Given the description of an element on the screen output the (x, y) to click on. 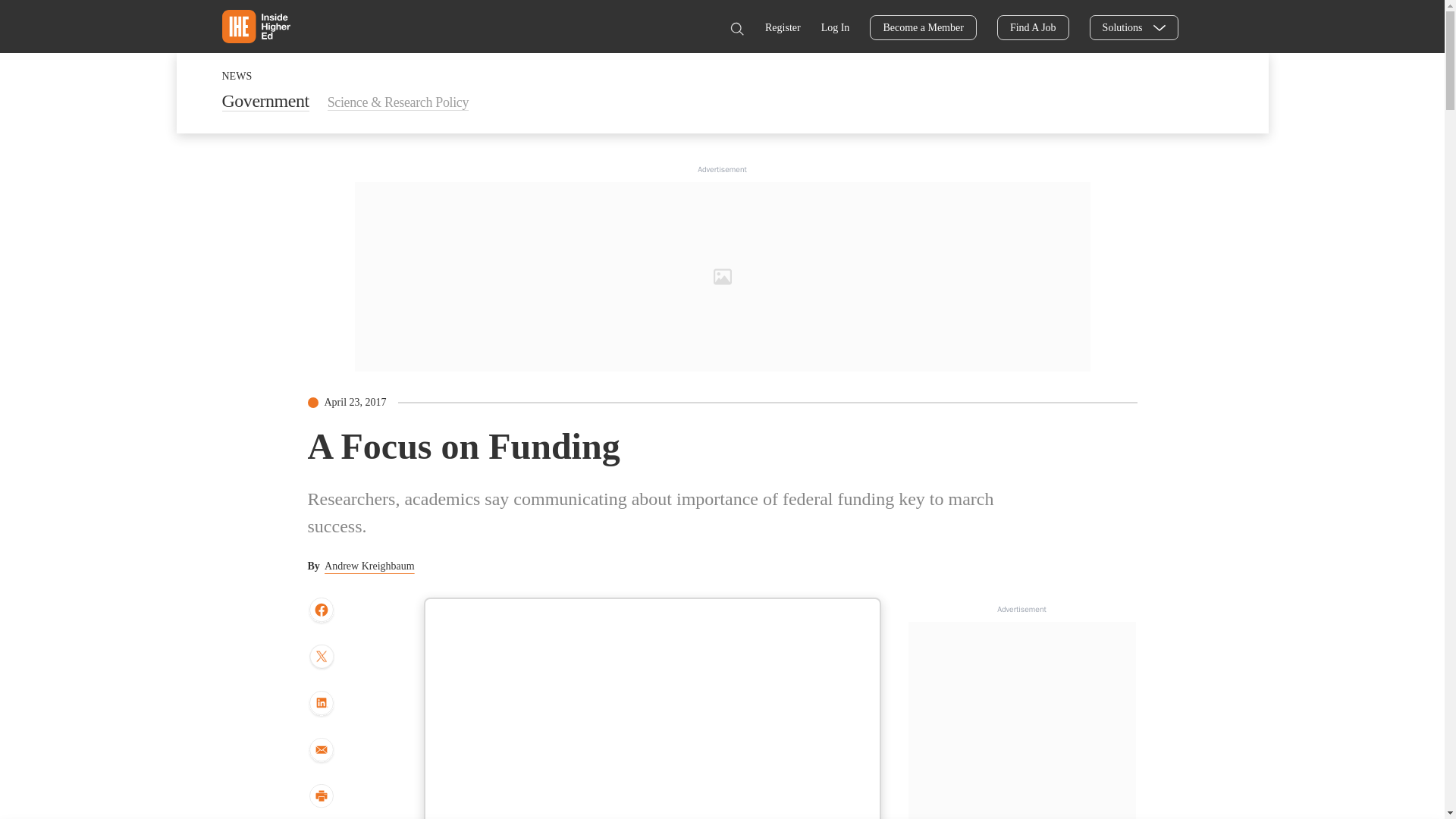
share to twitter (320, 657)
share to Linkedin (320, 704)
Home (255, 26)
Find A Job (1032, 27)
Search (736, 28)
share to facebook (320, 610)
Become a Member (922, 27)
share by email (320, 750)
